Given the description of an element on the screen output the (x, y) to click on. 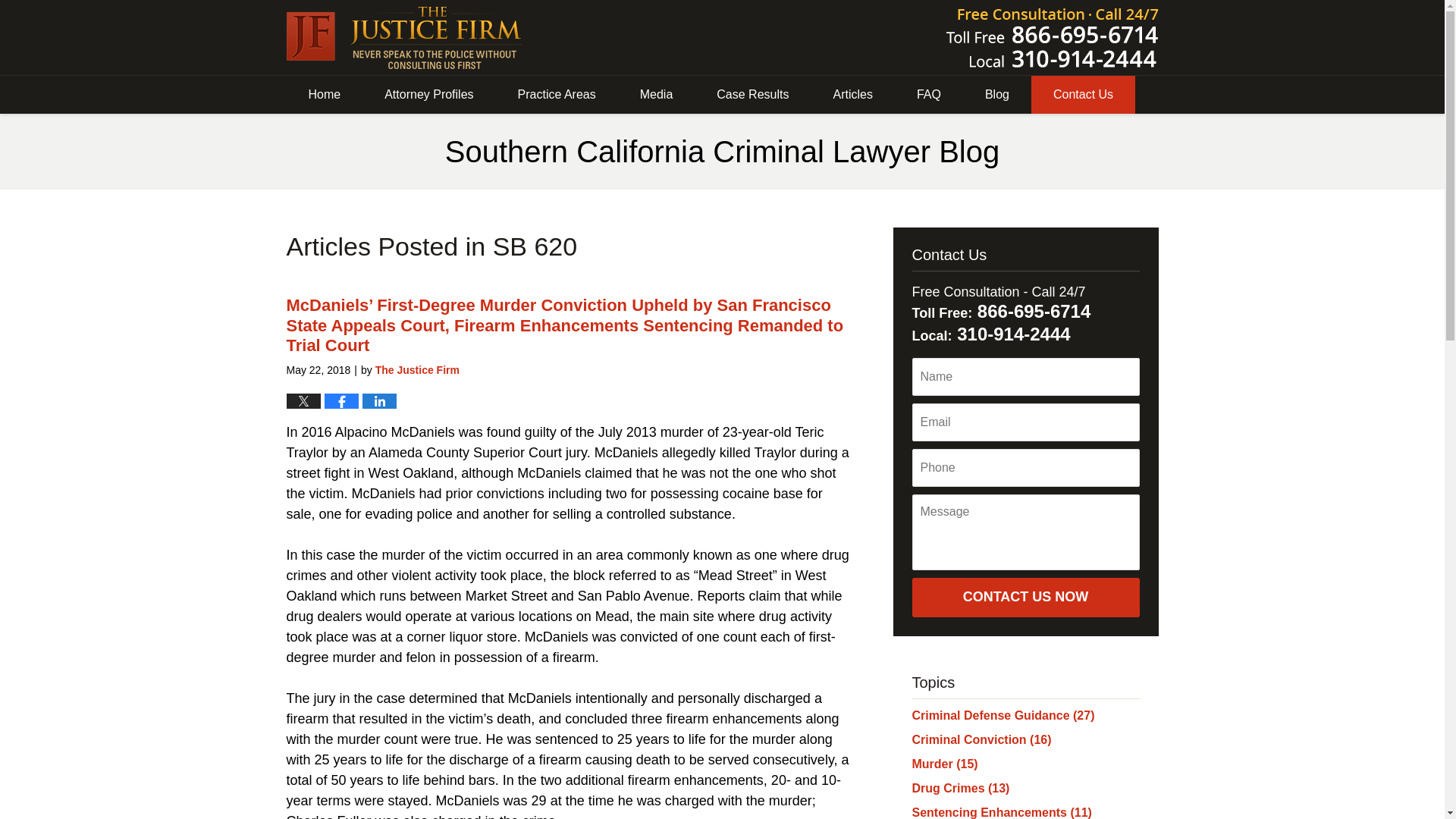
Case Results (752, 94)
Media (656, 94)
Home (324, 94)
Practice Areas (556, 94)
FAQ (928, 94)
CONTACT US NOW (1024, 597)
Attorney Profiles (428, 94)
Contact Us (1082, 94)
Blog (996, 94)
Published By The Justice Firm (1052, 37)
